Given the description of an element on the screen output the (x, y) to click on. 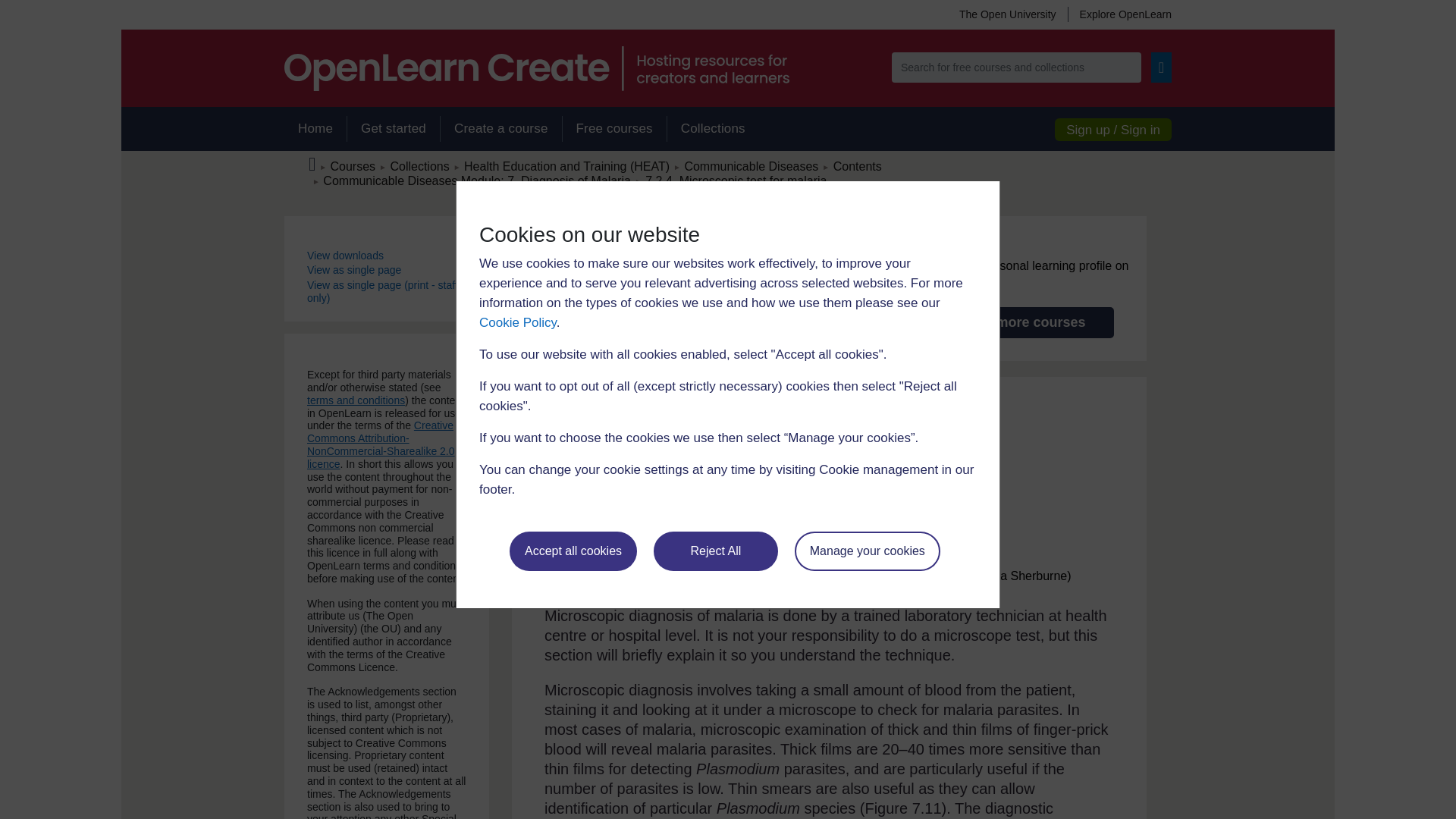
Collections (712, 128)
Cookie Policy (517, 322)
Reject All (715, 550)
Manage your cookies (867, 550)
Free courses (614, 128)
Create a course (500, 128)
Search (1161, 67)
The Open University (1007, 14)
The Open University (1007, 14)
Explore OpenLearn (1119, 14)
Accept all cookies (573, 550)
OpenLearn Create (536, 67)
Get started (392, 128)
Explore OpenLearn (1119, 14)
SC Web Editor (476, 180)
